Given the description of an element on the screen output the (x, y) to click on. 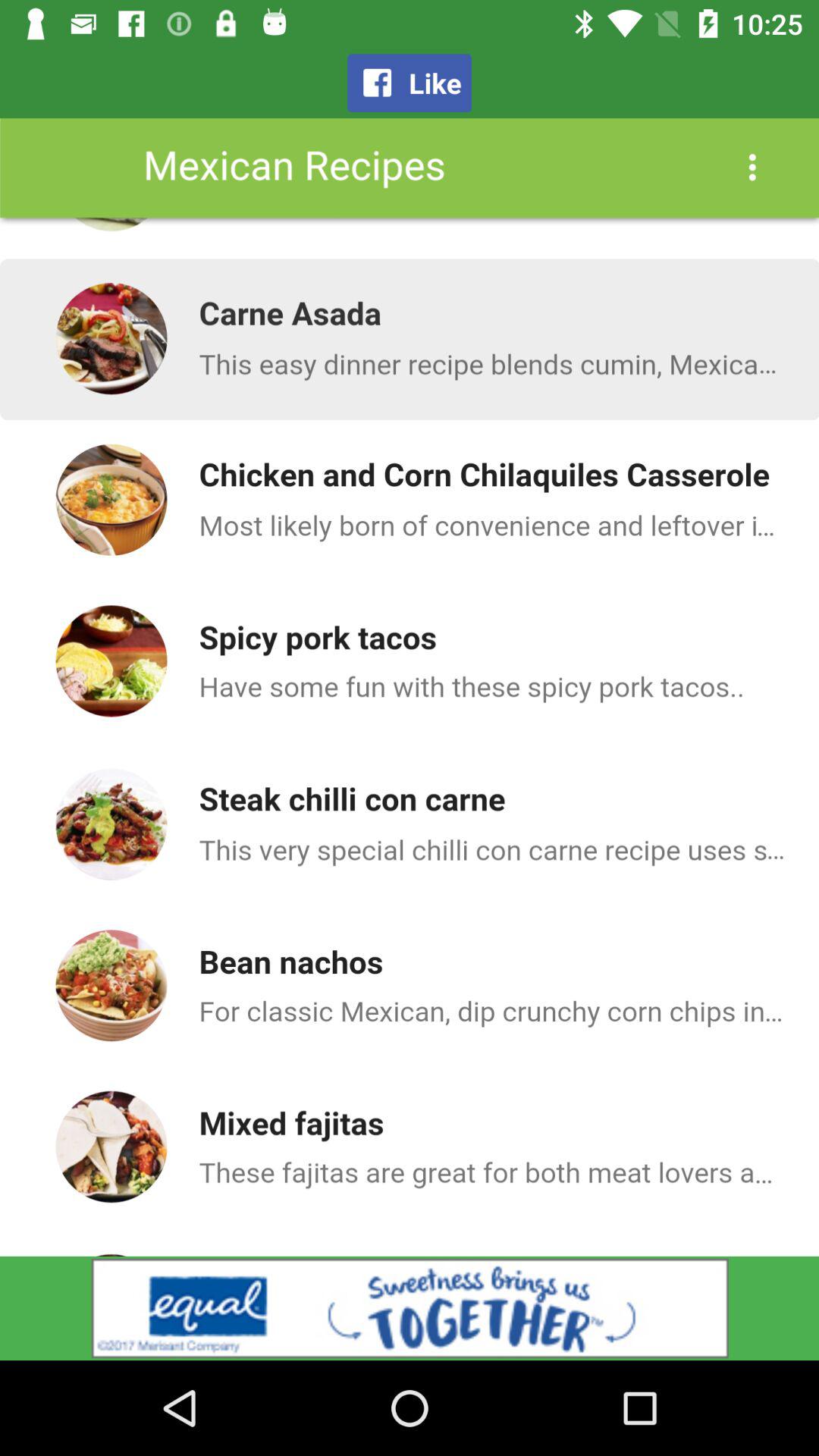
go to advertisement (409, 1308)
